Given the description of an element on the screen output the (x, y) to click on. 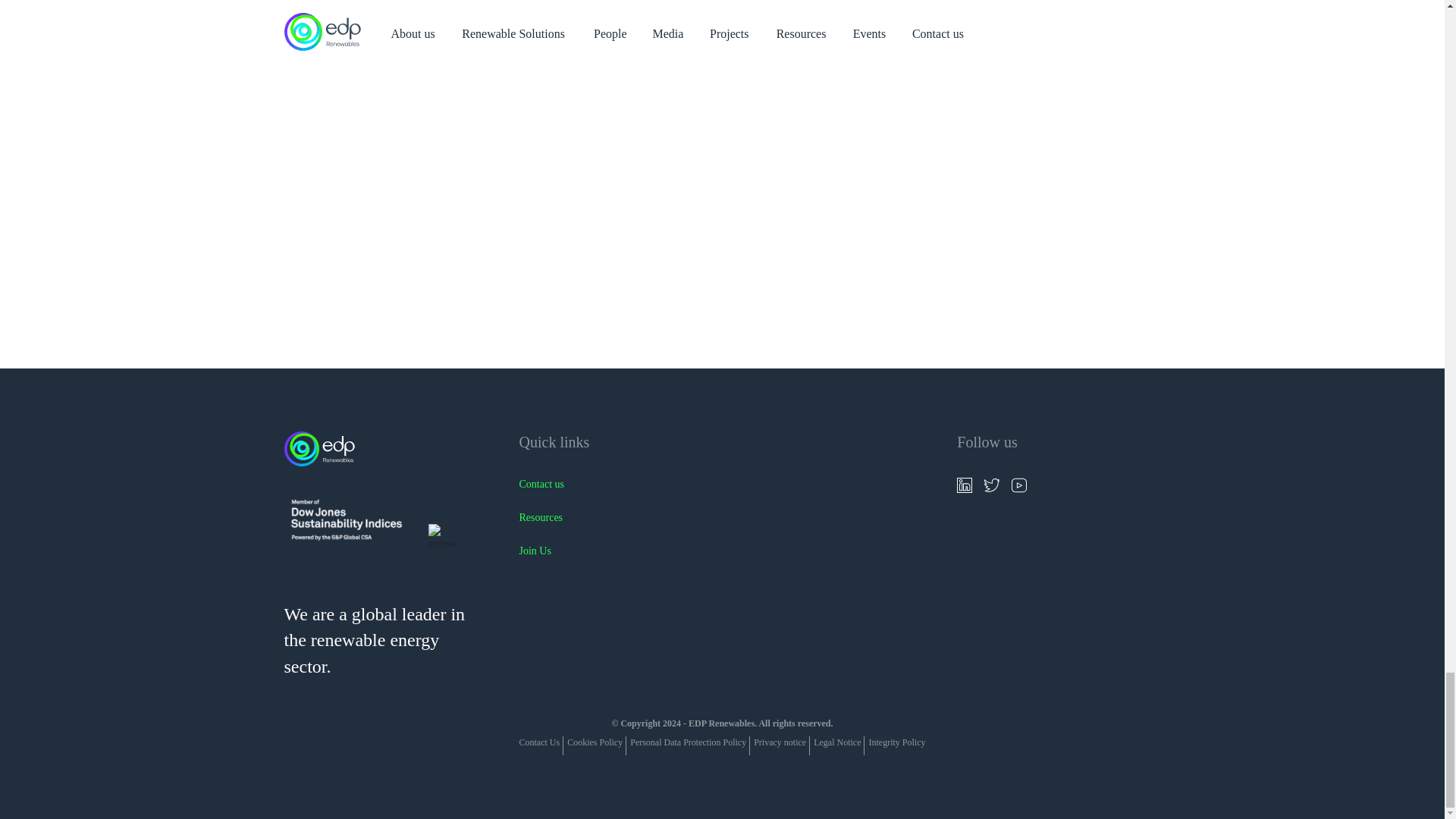
Contact Us (539, 742)
Cookies Policy (595, 742)
Personal Data Protection Policy (687, 742)
Dow Jones Sustainability Index (346, 521)
Access (451, 537)
Resources (612, 517)
EDPR Logo (382, 452)
Join Us (612, 550)
EDP Renewables (321, 450)
Contact us (612, 484)
